Given the description of an element on the screen output the (x, y) to click on. 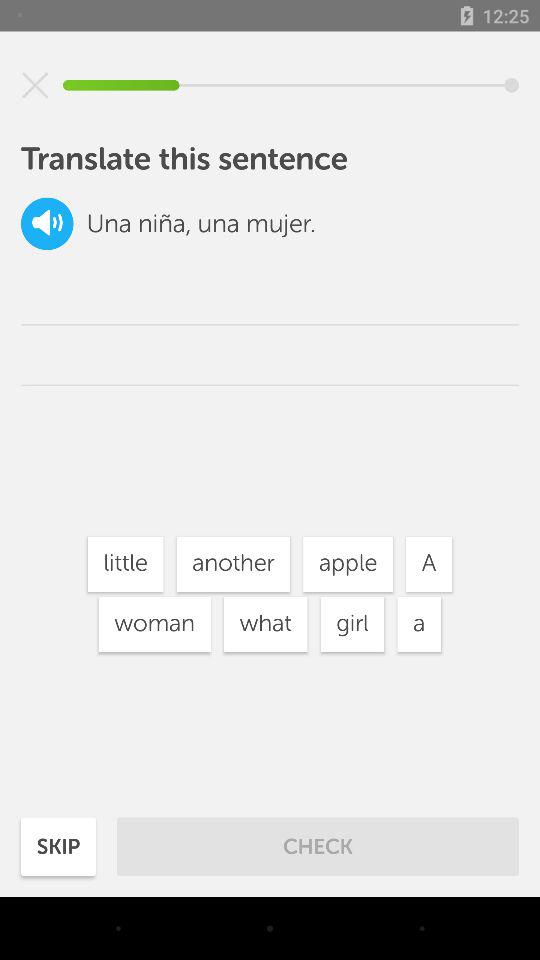
flip until the woman icon (154, 624)
